Given the description of an element on the screen output the (x, y) to click on. 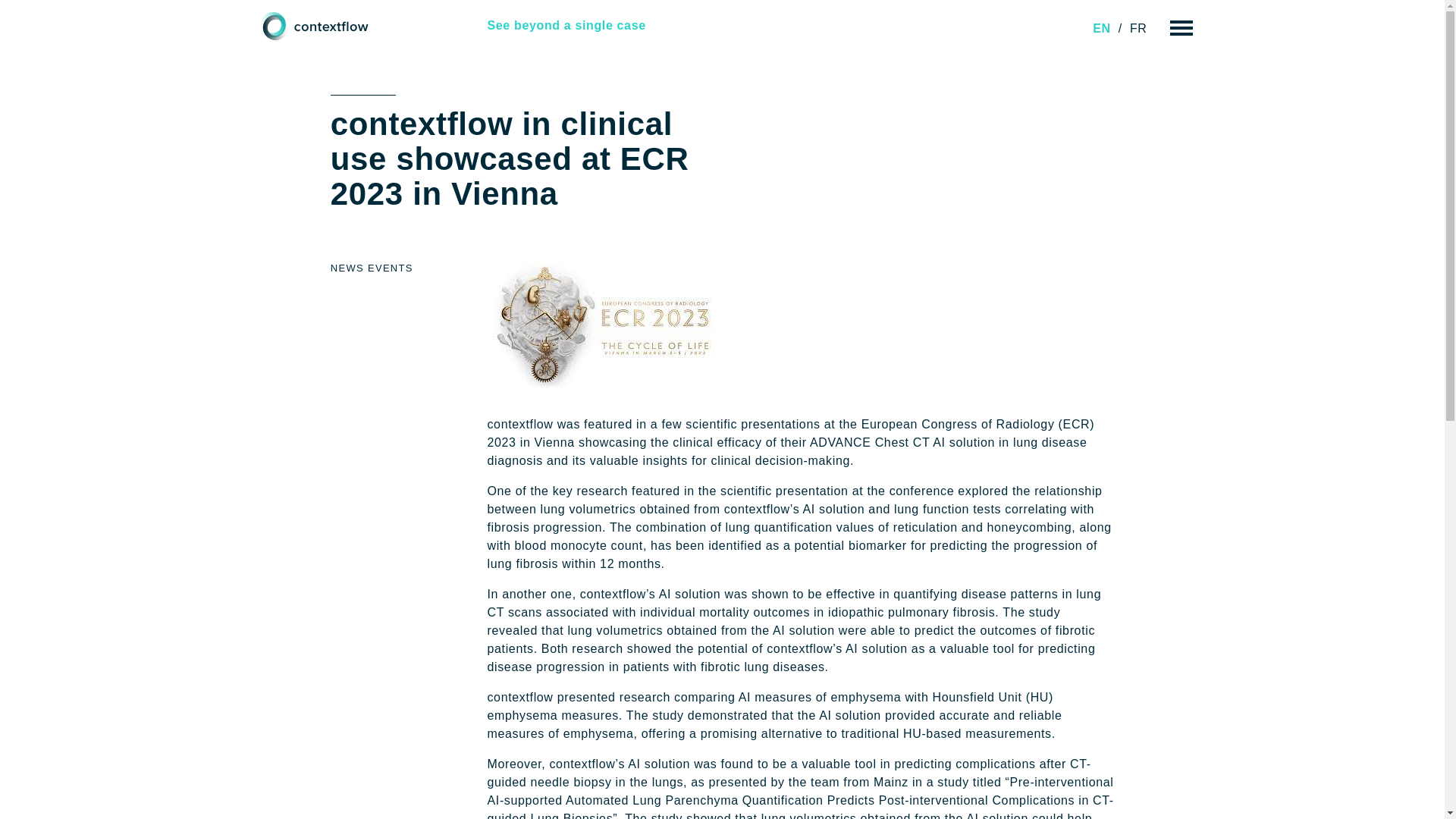
EVENTS (390, 268)
FR (1138, 28)
EN (1101, 28)
NEWS (347, 268)
